Given the description of an element on the screen output the (x, y) to click on. 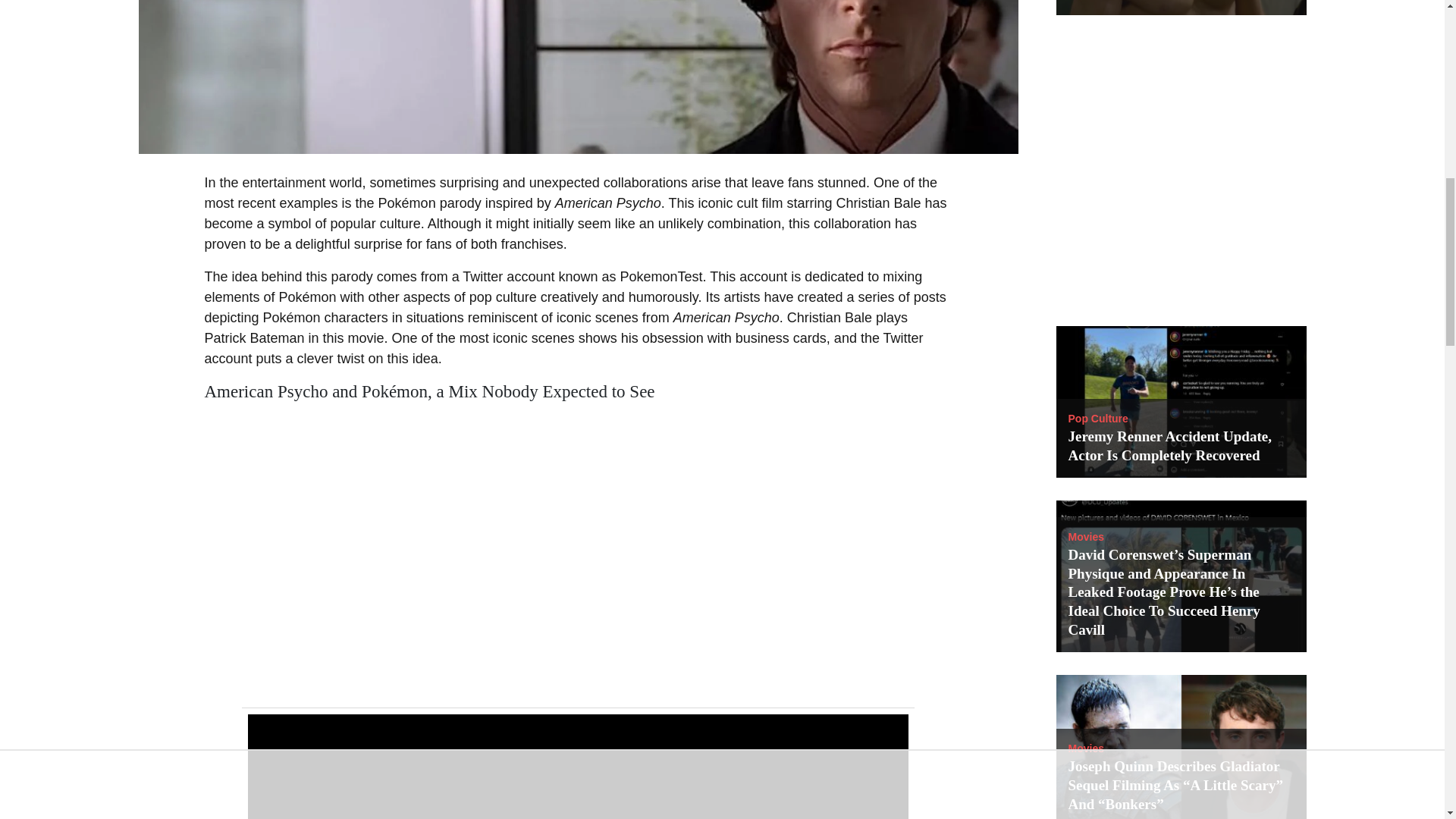
3rd party ad content (1180, 178)
